Given the description of an element on the screen output the (x, y) to click on. 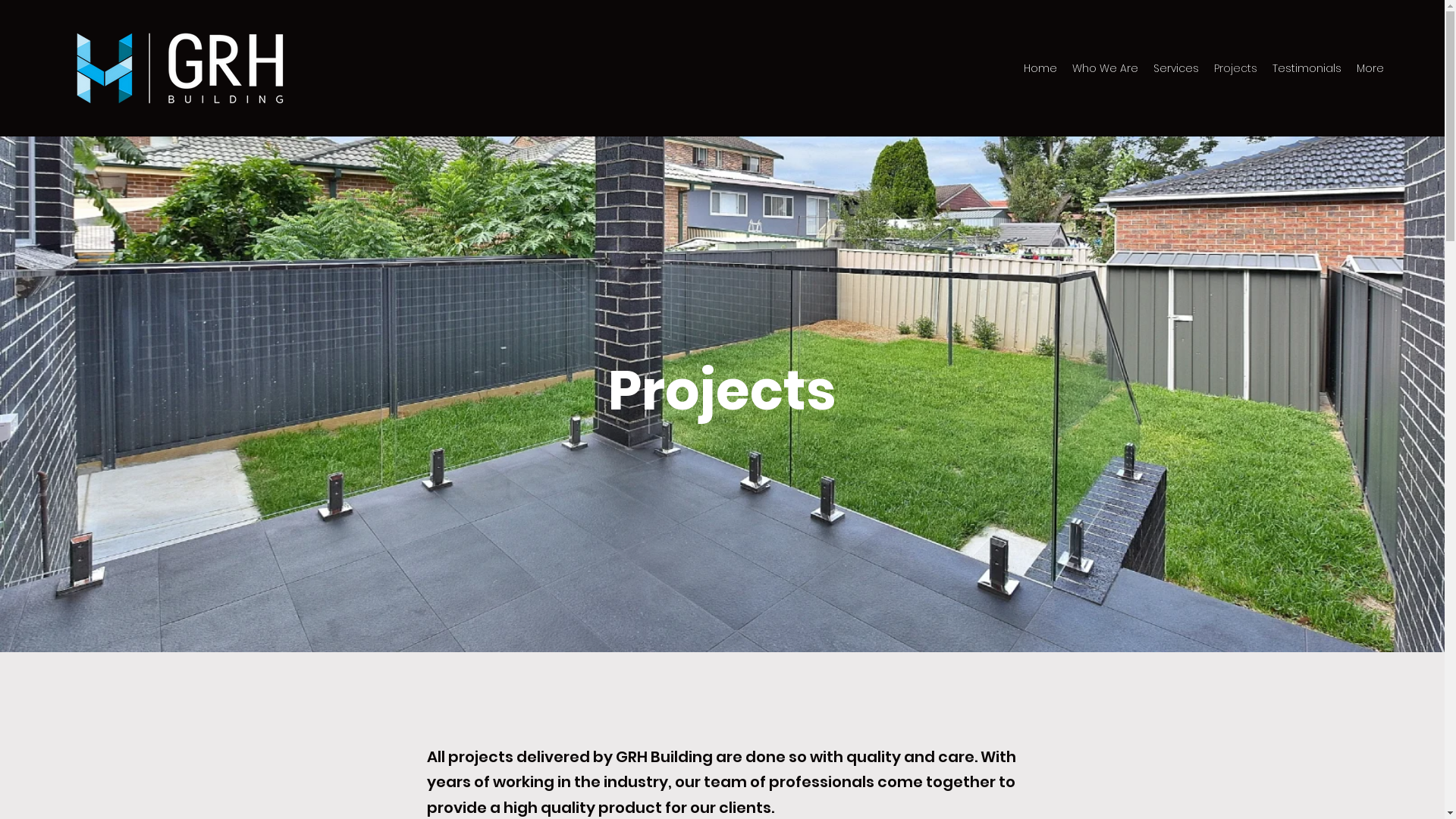
Services Element type: text (1175, 67)
Who We Are Element type: text (1104, 67)
Home Element type: text (1040, 67)
Projects Element type: text (1235, 67)
Testimonials Element type: text (1306, 67)
